Given the description of an element on the screen output the (x, y) to click on. 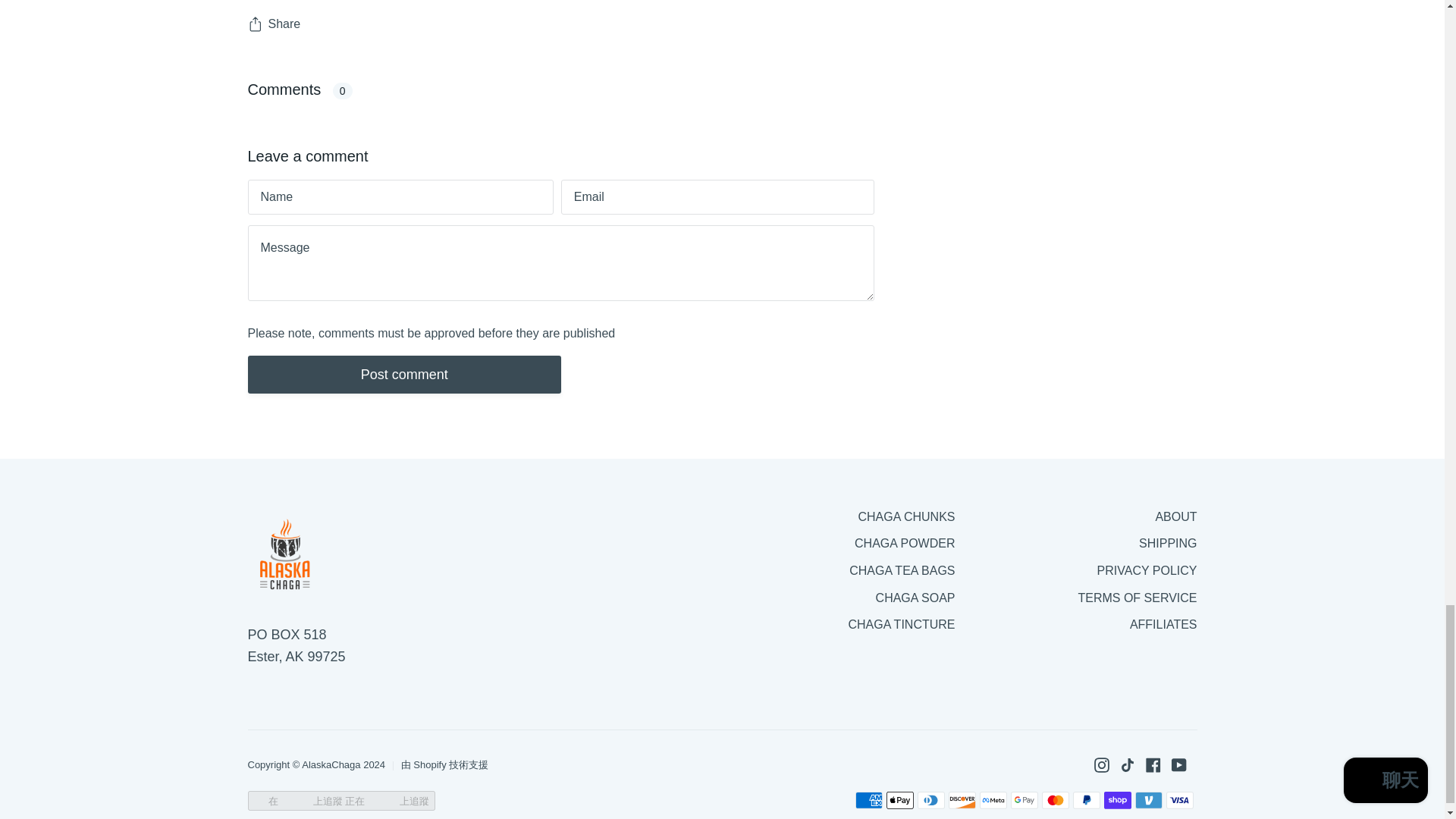
AlaskaChaga on Instagram (1100, 765)
AlaskaChaga on TikTok (1126, 765)
Post comment (403, 374)
AlaskaChaga on YouTube (1178, 765)
AlaskaChaga on Facebook (1152, 765)
